Given the description of an element on the screen output the (x, y) to click on. 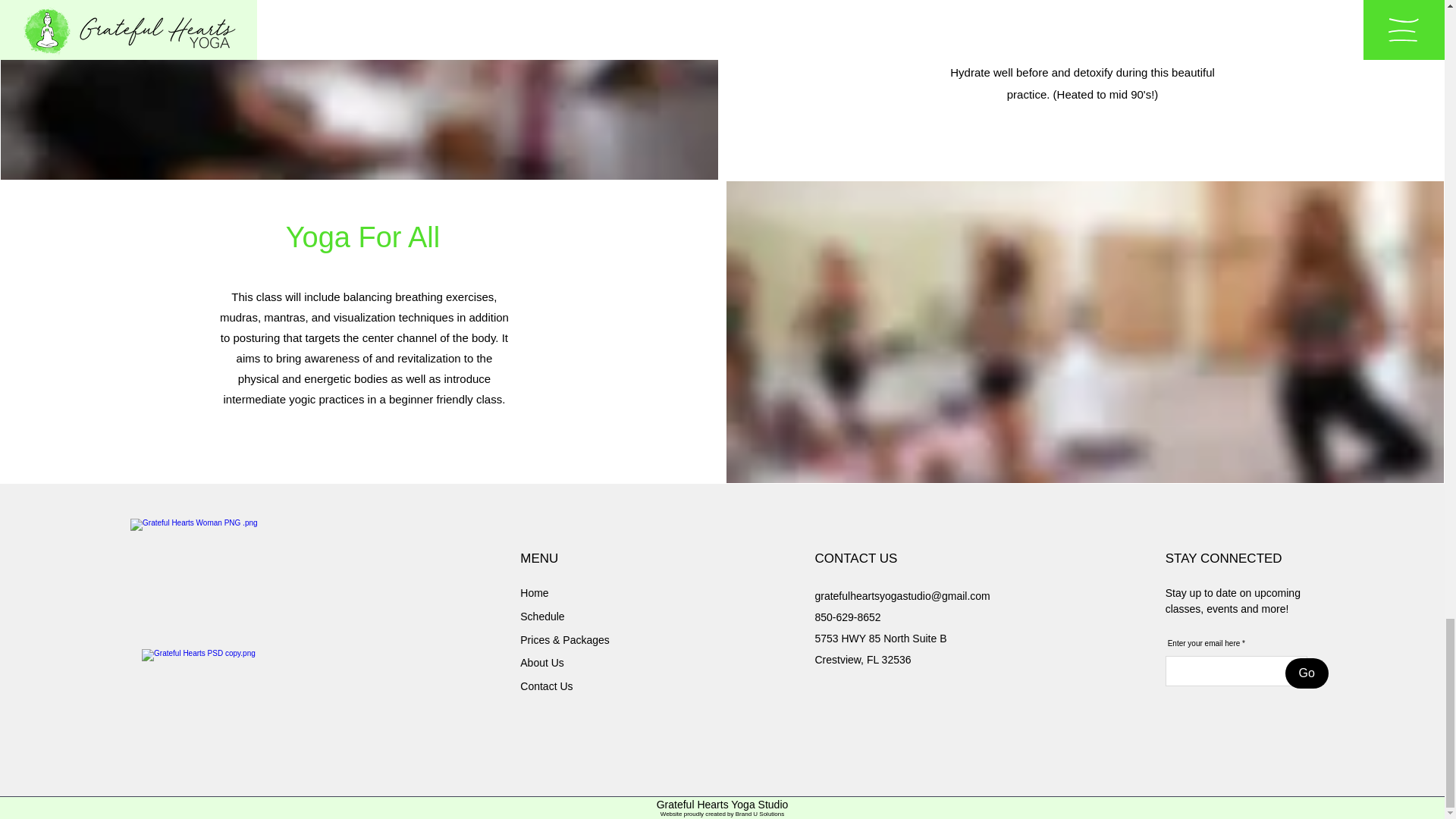
Website proudly created by Brand U Solutions (722, 813)
Schedule (541, 616)
Contact Us (545, 686)
About Us (541, 662)
Home (533, 592)
850-629-8652 (846, 616)
Go (1306, 673)
